Given the description of an element on the screen output the (x, y) to click on. 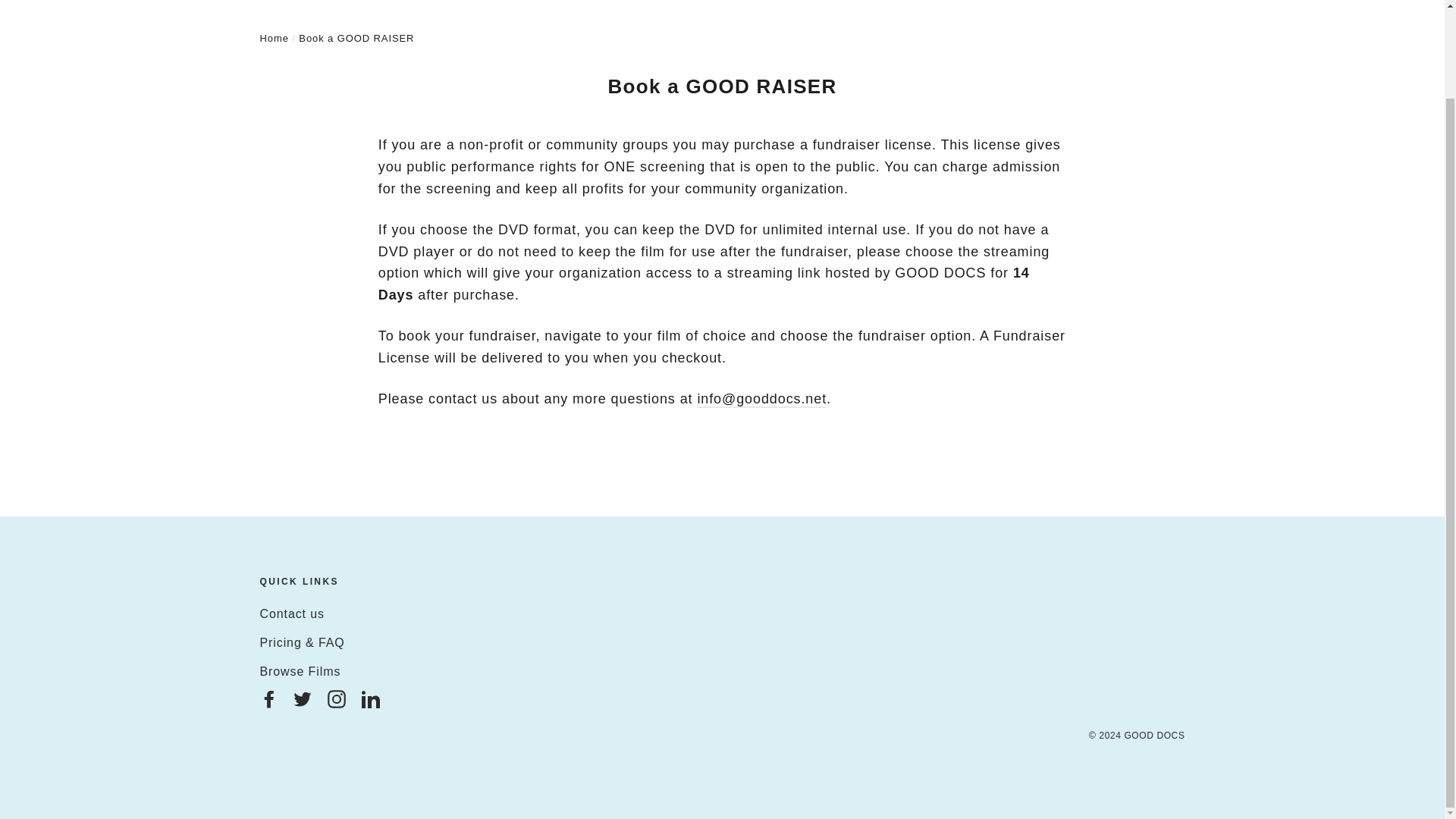
Back to the frontpage (273, 38)
